Given the description of an element on the screen output the (x, y) to click on. 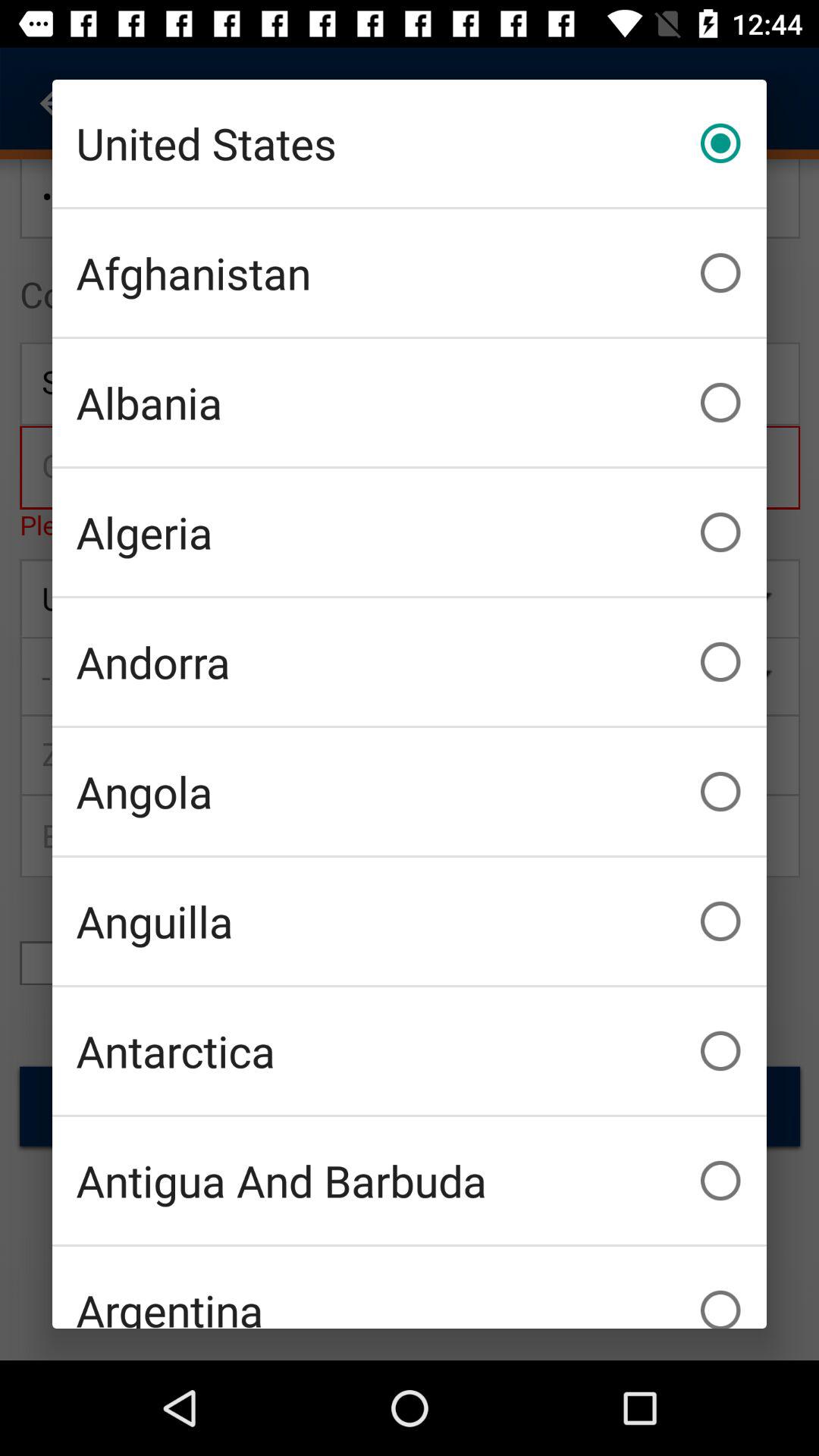
swipe until andorra (409, 661)
